Given the description of an element on the screen output the (x, y) to click on. 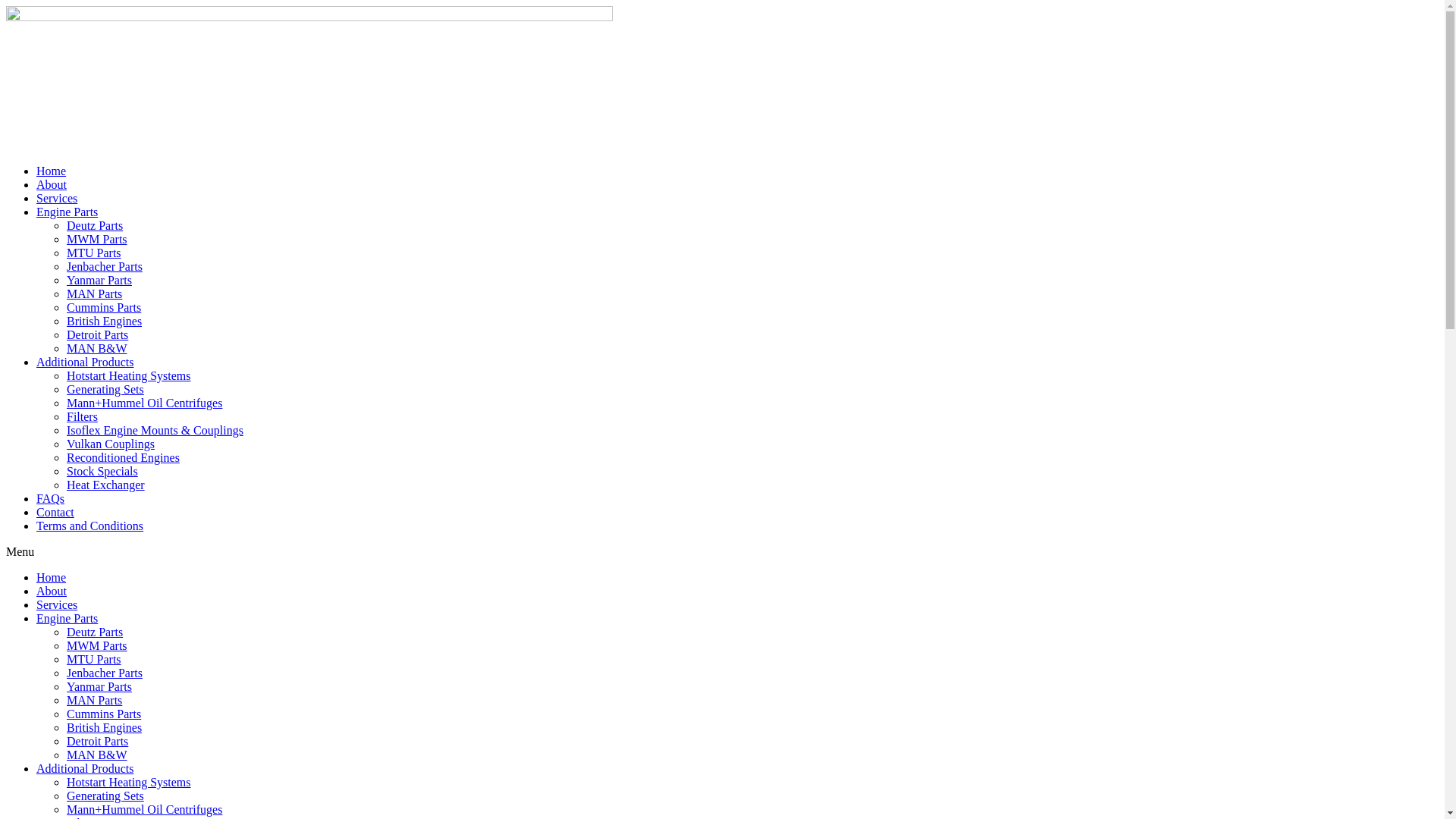
Deutz Parts Element type: text (94, 225)
MAN Parts Element type: text (94, 699)
Terms and Conditions Element type: text (89, 525)
Reconditioned Engines Element type: text (122, 457)
MTU Parts Element type: text (93, 252)
Yanmar Parts Element type: text (98, 279)
Detroit Parts Element type: text (97, 334)
Detroit Parts Element type: text (97, 740)
Stock Specials Element type: text (102, 470)
Skip to content Element type: text (5, 5)
Services Element type: text (56, 604)
Home Element type: text (50, 170)
MAN B&W Element type: text (96, 754)
British Engines Element type: text (103, 727)
Hotstart Heating Systems Element type: text (128, 375)
MTU Parts Element type: text (93, 658)
Filters Element type: text (81, 416)
About Element type: text (51, 184)
Deutz Parts Element type: text (94, 631)
Hotstart Heating Systems Element type: text (128, 781)
Additional Products Element type: text (84, 768)
Jenbacher Parts Element type: text (104, 266)
FAQs Element type: text (50, 498)
Yanmar Parts Element type: text (98, 686)
MAN Parts Element type: text (94, 293)
MWM Parts Element type: text (96, 238)
British Engines Element type: text (103, 320)
Cummins Parts Element type: text (103, 307)
Services Element type: text (56, 197)
MAN B&W Element type: text (96, 348)
Generating Sets Element type: text (105, 795)
Home Element type: text (50, 577)
Heat Exchanger Element type: text (105, 484)
Jenbacher Parts Element type: text (104, 672)
Isoflex Engine Mounts & Couplings Element type: text (154, 429)
Additional Products Element type: text (84, 361)
Engine Parts Element type: text (66, 211)
Contact Element type: text (55, 511)
Engine Parts Element type: text (66, 617)
Mann+Hummel Oil Centrifuges Element type: text (144, 809)
Generating Sets Element type: text (105, 388)
About Element type: text (51, 590)
Mann+Hummel Oil Centrifuges Element type: text (144, 402)
Vulkan Couplings Element type: text (110, 443)
MWM Parts Element type: text (96, 645)
Cummins Parts Element type: text (103, 713)
